Given the description of an element on the screen output the (x, y) to click on. 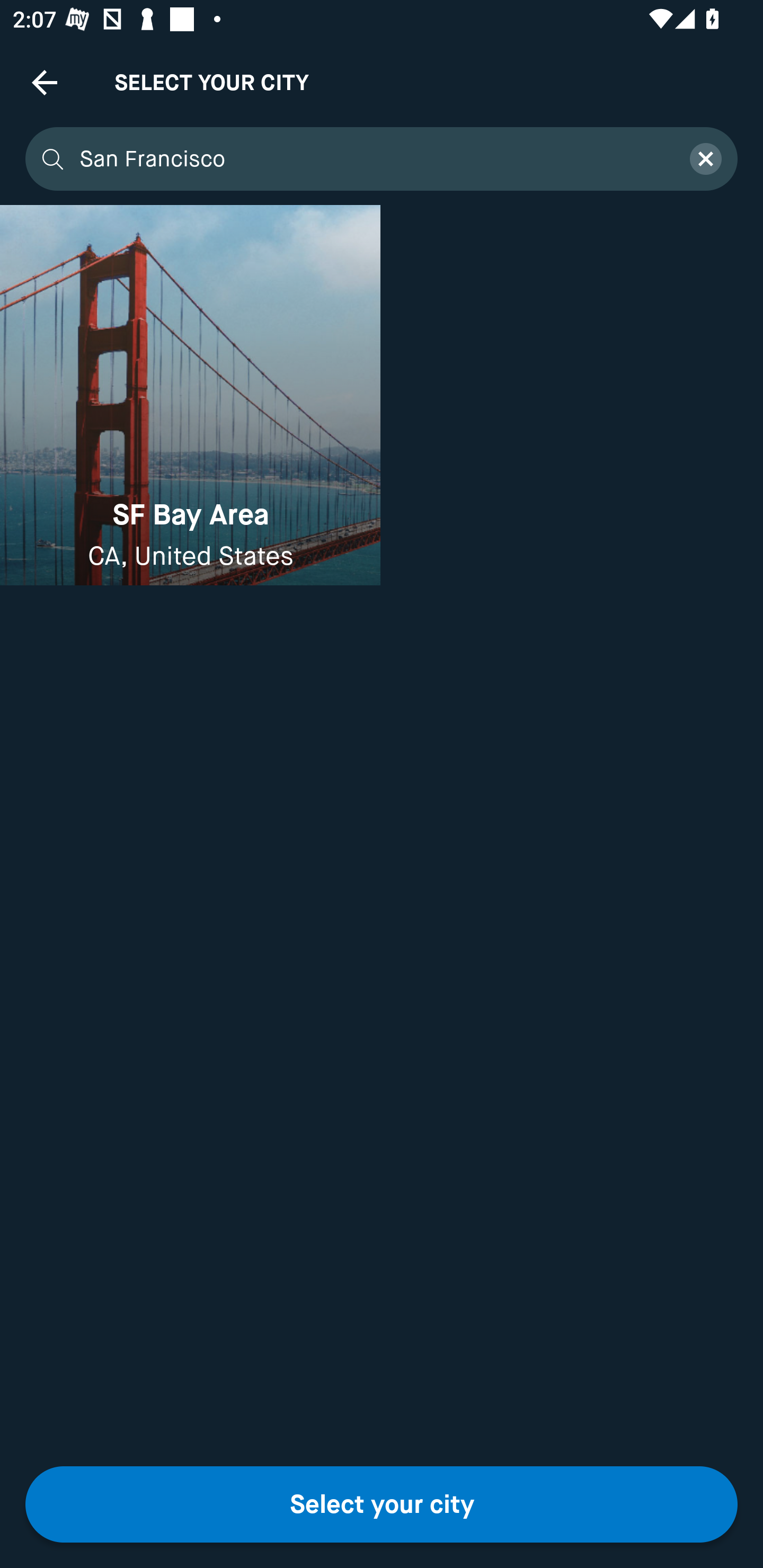
Navigate up (44, 82)
San Francisco (373, 159)
SF Bay Area CA, United States (190, 394)
Select your city (381, 1504)
